Given the description of an element on the screen output the (x, y) to click on. 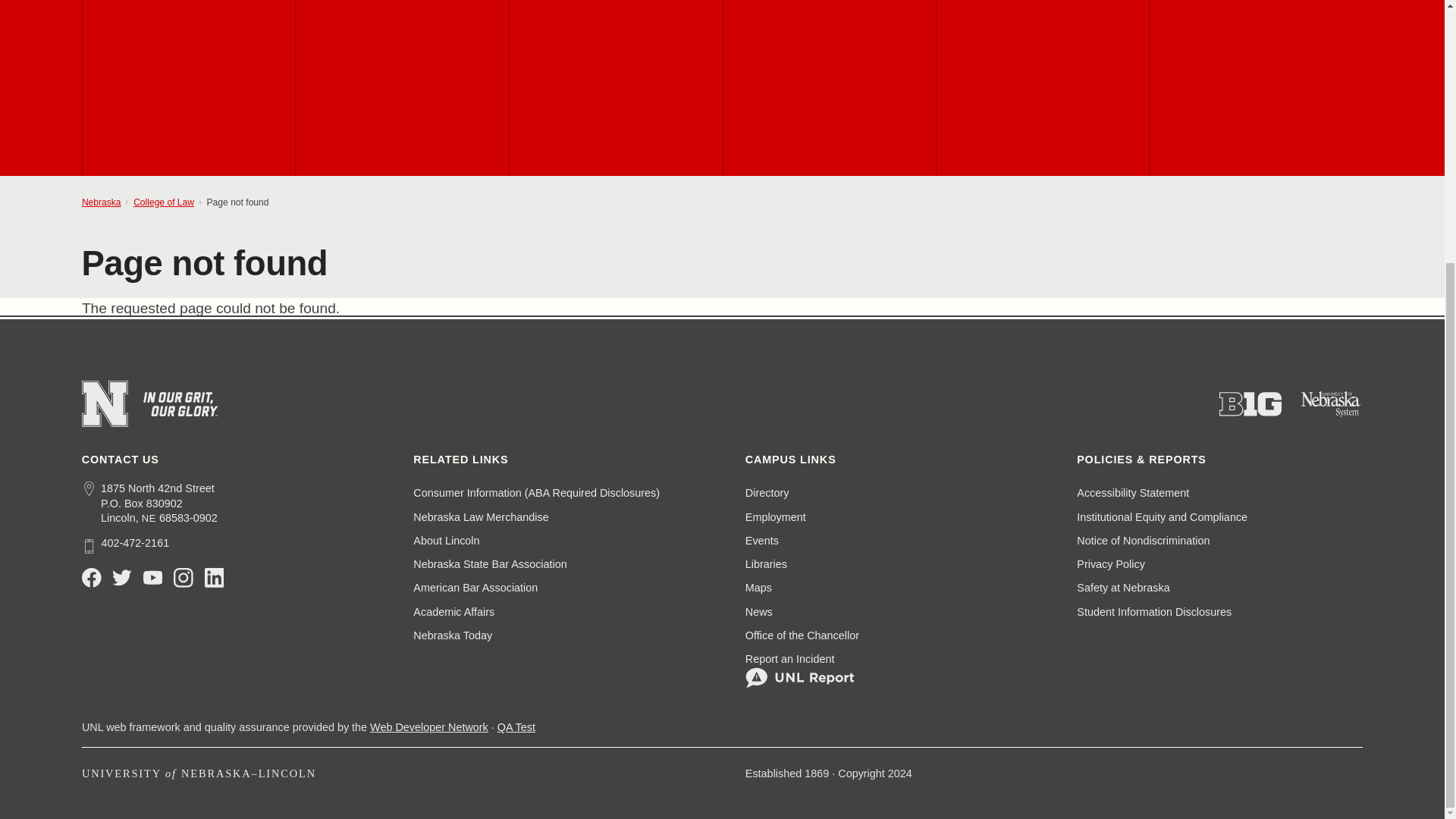
About the College (188, 88)
Current Student (615, 88)
Nebraska (148, 518)
Prospective Student (401, 88)
